Given the description of an element on the screen output the (x, y) to click on. 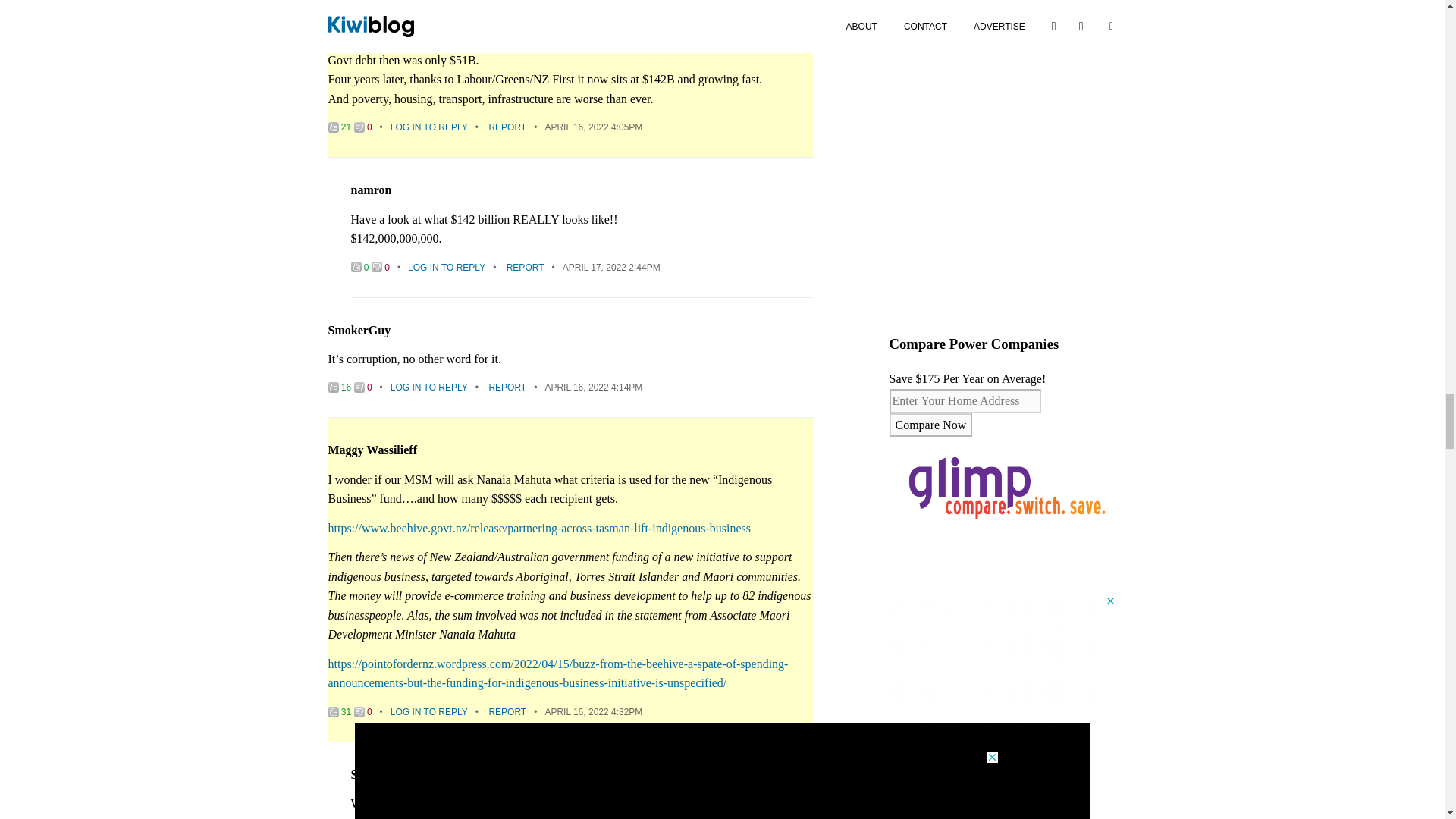
Compare Now (930, 425)
